Given the description of an element on the screen output the (x, y) to click on. 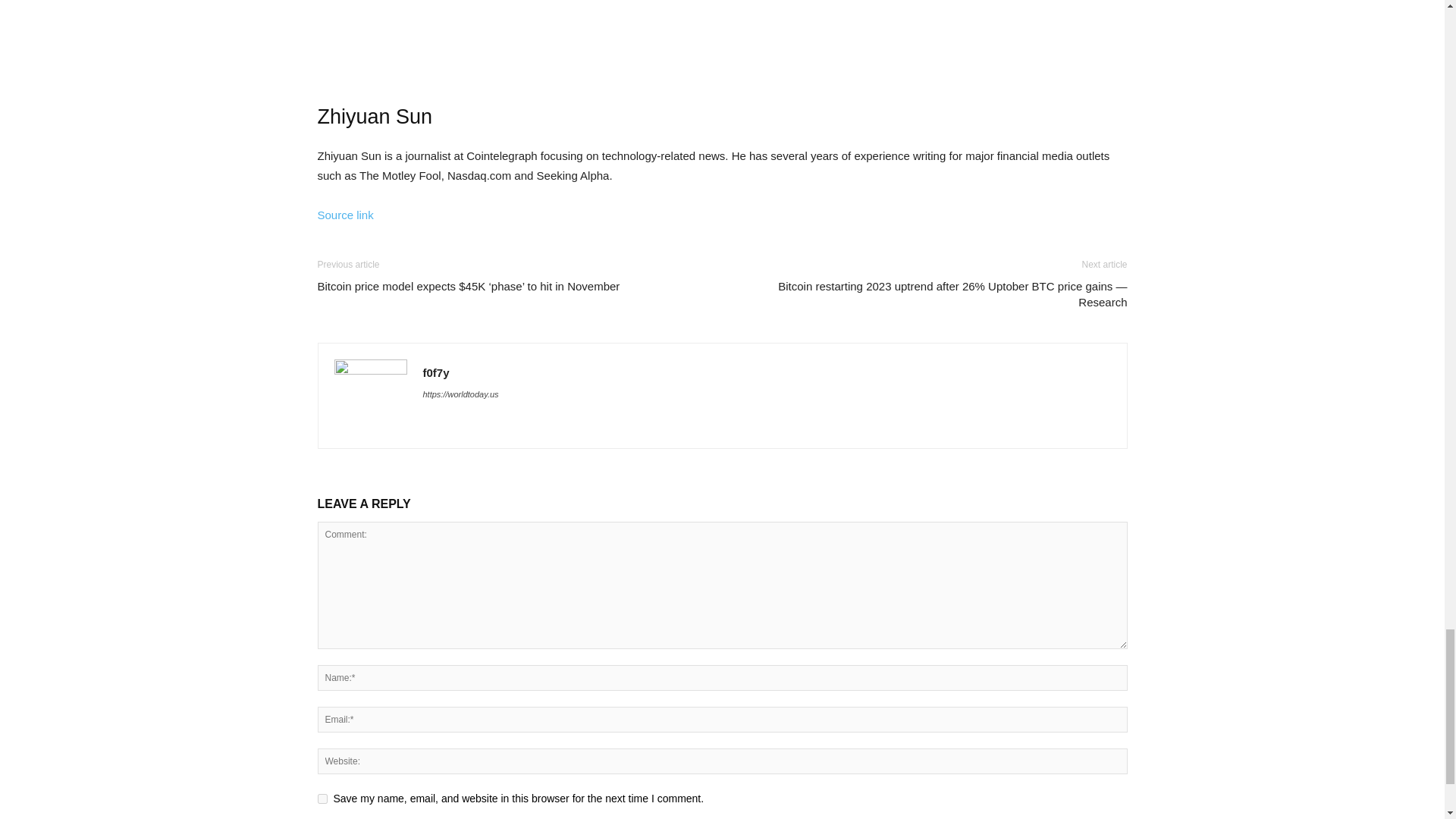
Source link (344, 214)
f0f7y (436, 372)
yes (321, 798)
